Given the description of an element on the screen output the (x, y) to click on. 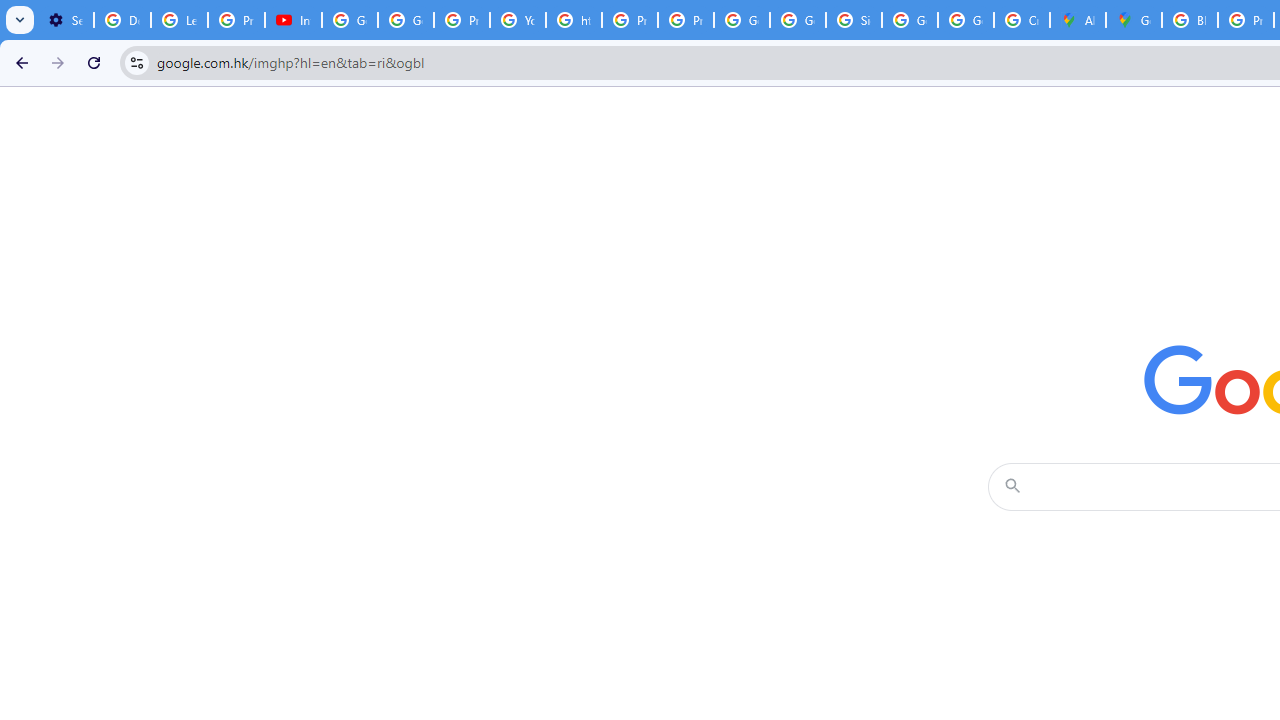
Google Account Help (349, 20)
Sign in - Google Accounts (853, 20)
Create your Google Account (1021, 20)
Learn how to find your photos - Google Photos Help (179, 20)
Google Maps (1133, 20)
https://scholar.google.com/ (573, 20)
